Given the description of an element on the screen output the (x, y) to click on. 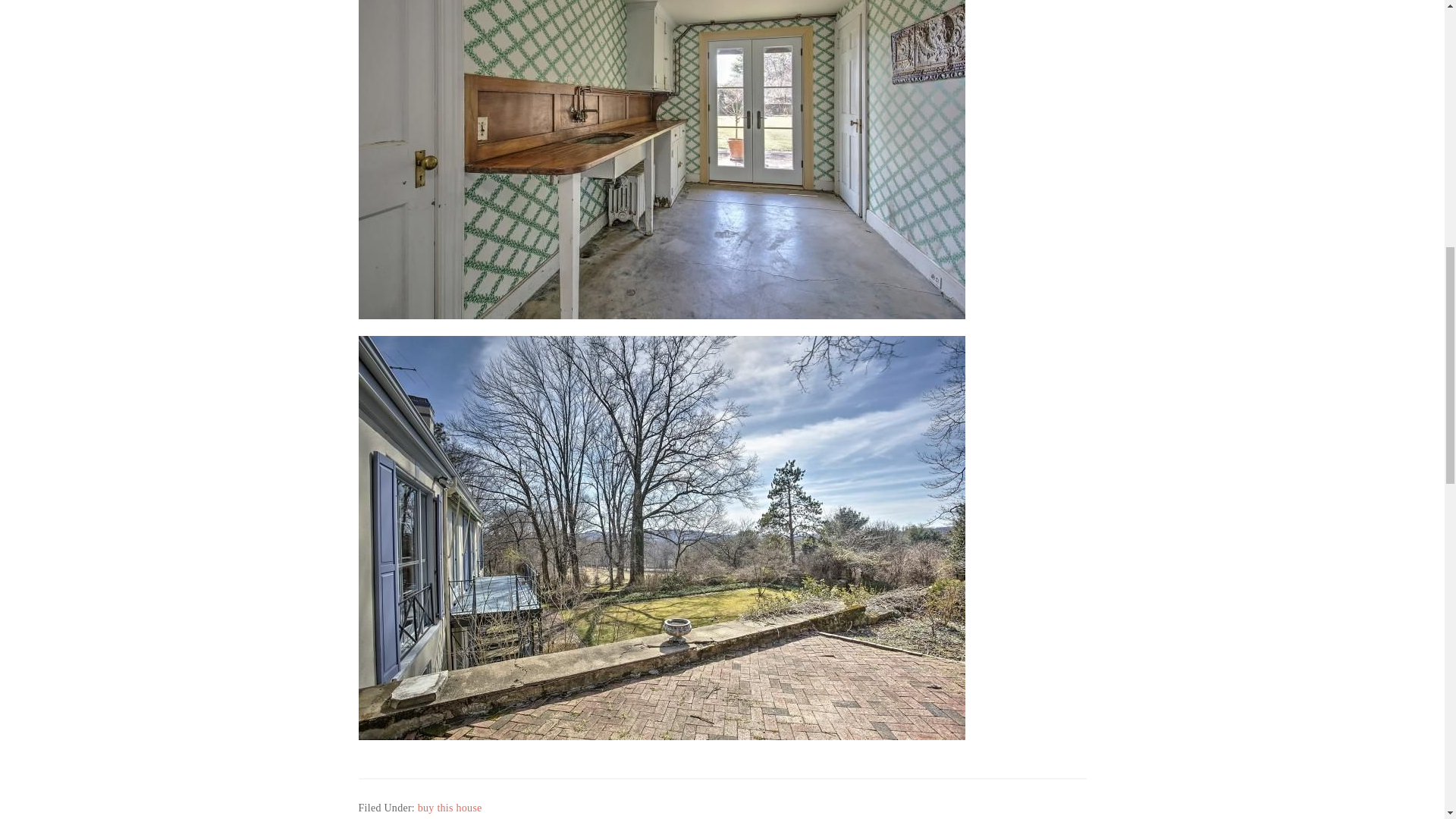
buy this house (449, 808)
